Given the description of an element on the screen output the (x, y) to click on. 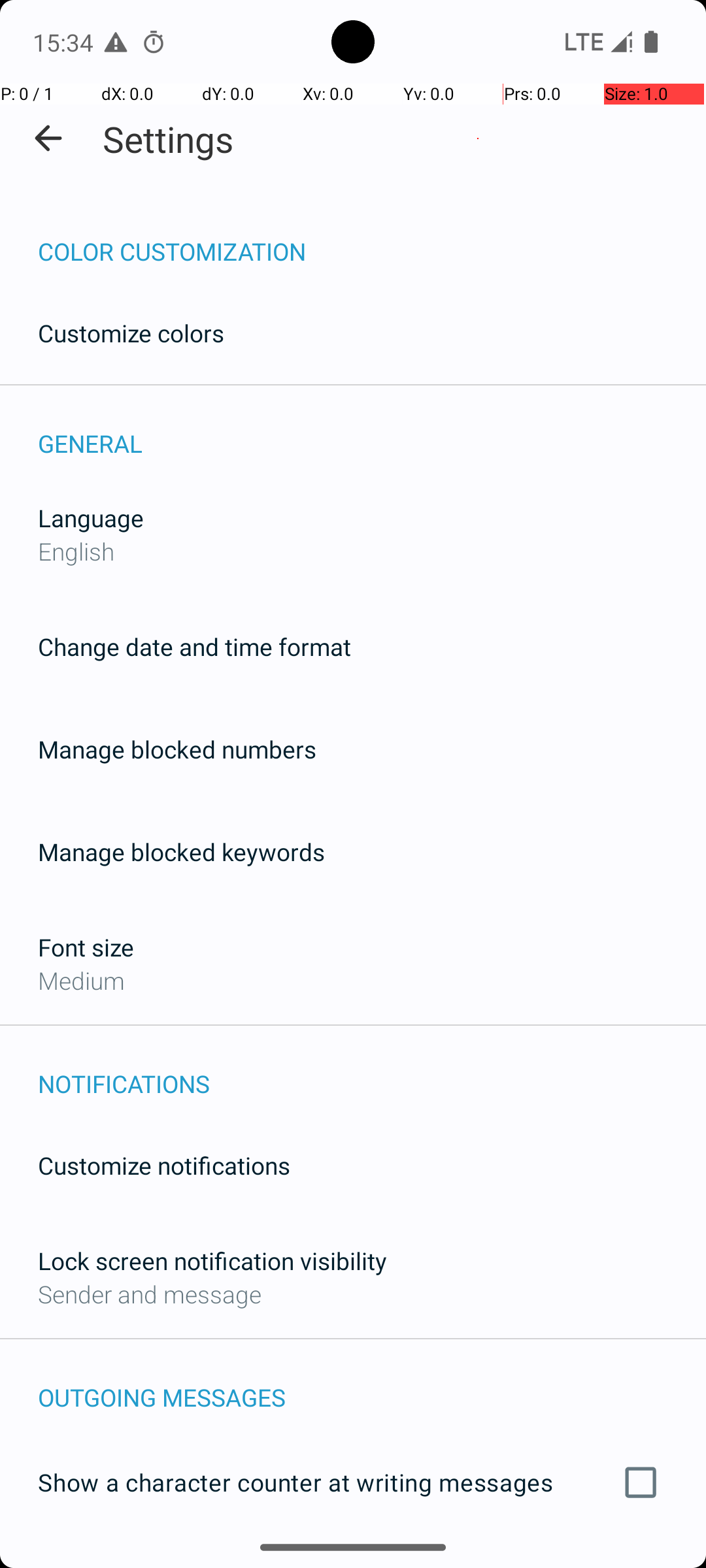
NOTIFICATIONS Element type: android.widget.TextView (371, 1069)
OUTGOING MESSAGES Element type: android.widget.TextView (371, 1383)
Change date and time format Element type: android.widget.TextView (194, 646)
Manage blocked numbers Element type: android.widget.TextView (176, 748)
Manage blocked keywords Element type: android.widget.TextView (180, 851)
Font size Element type: android.widget.TextView (85, 946)
Medium Element type: android.widget.TextView (80, 979)
Lock screen notification visibility Element type: android.widget.TextView (211, 1260)
Sender and message Element type: android.widget.TextView (149, 1293)
Show a character counter at writing messages Element type: android.widget.CheckBox (352, 1482)
Remove accents and diacritics at sending messages Element type: android.widget.CheckBox (352, 1559)
